Given the description of an element on the screen output the (x, y) to click on. 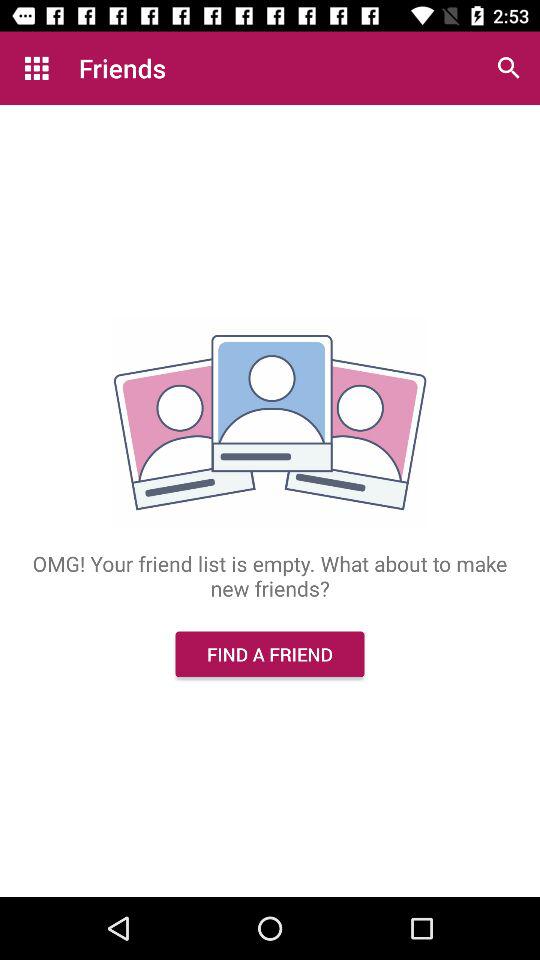
turn off the item next to the friends item (36, 68)
